Given the description of an element on the screen output the (x, y) to click on. 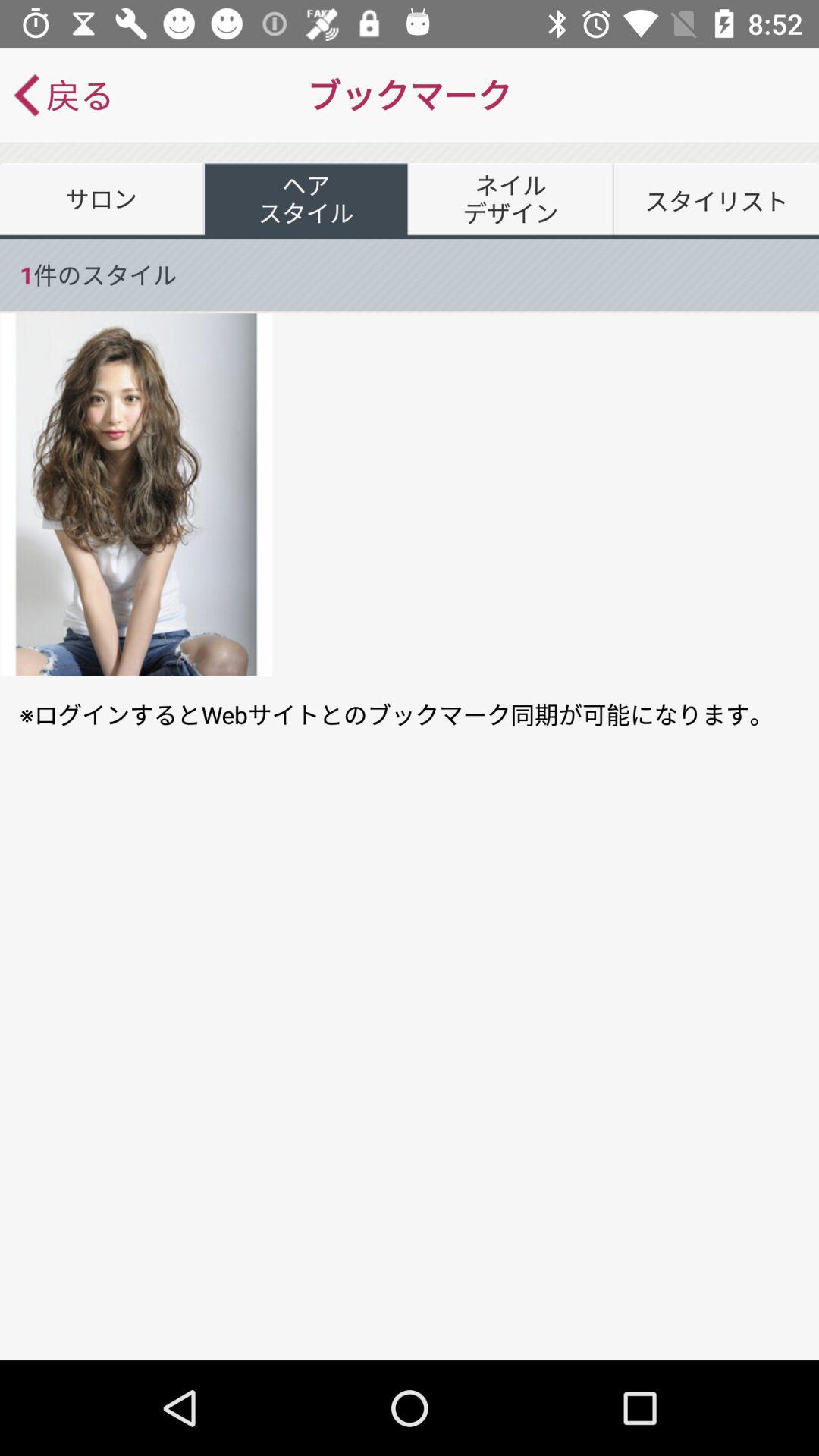
press the icon below 1 icon (136, 494)
